Given the description of an element on the screen output the (x, y) to click on. 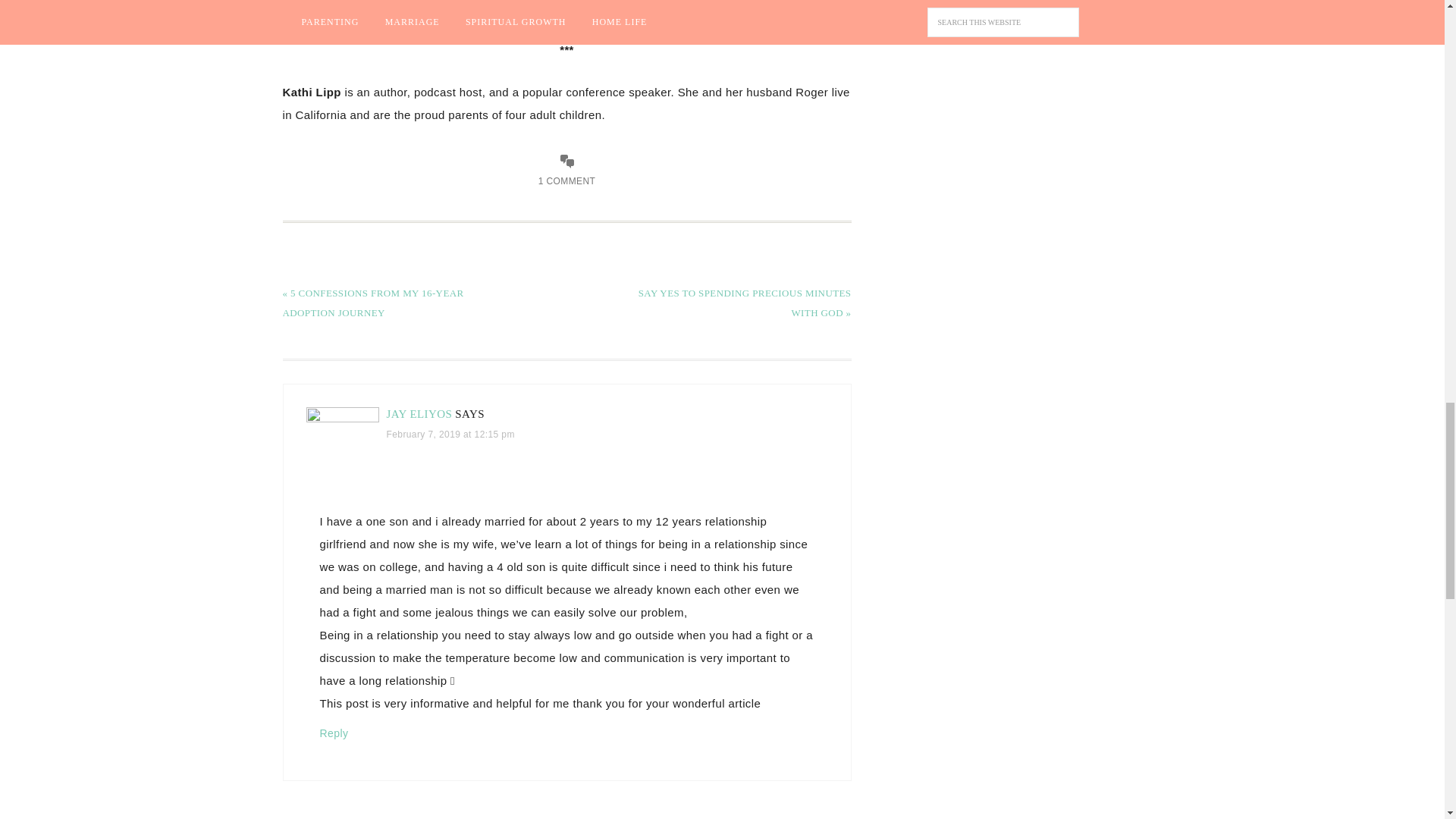
1 COMMENT (566, 181)
Reply (334, 733)
JAY ELIYOS (419, 413)
February 7, 2019 at 12:15 pm (451, 434)
